Given the description of an element on the screen output the (x, y) to click on. 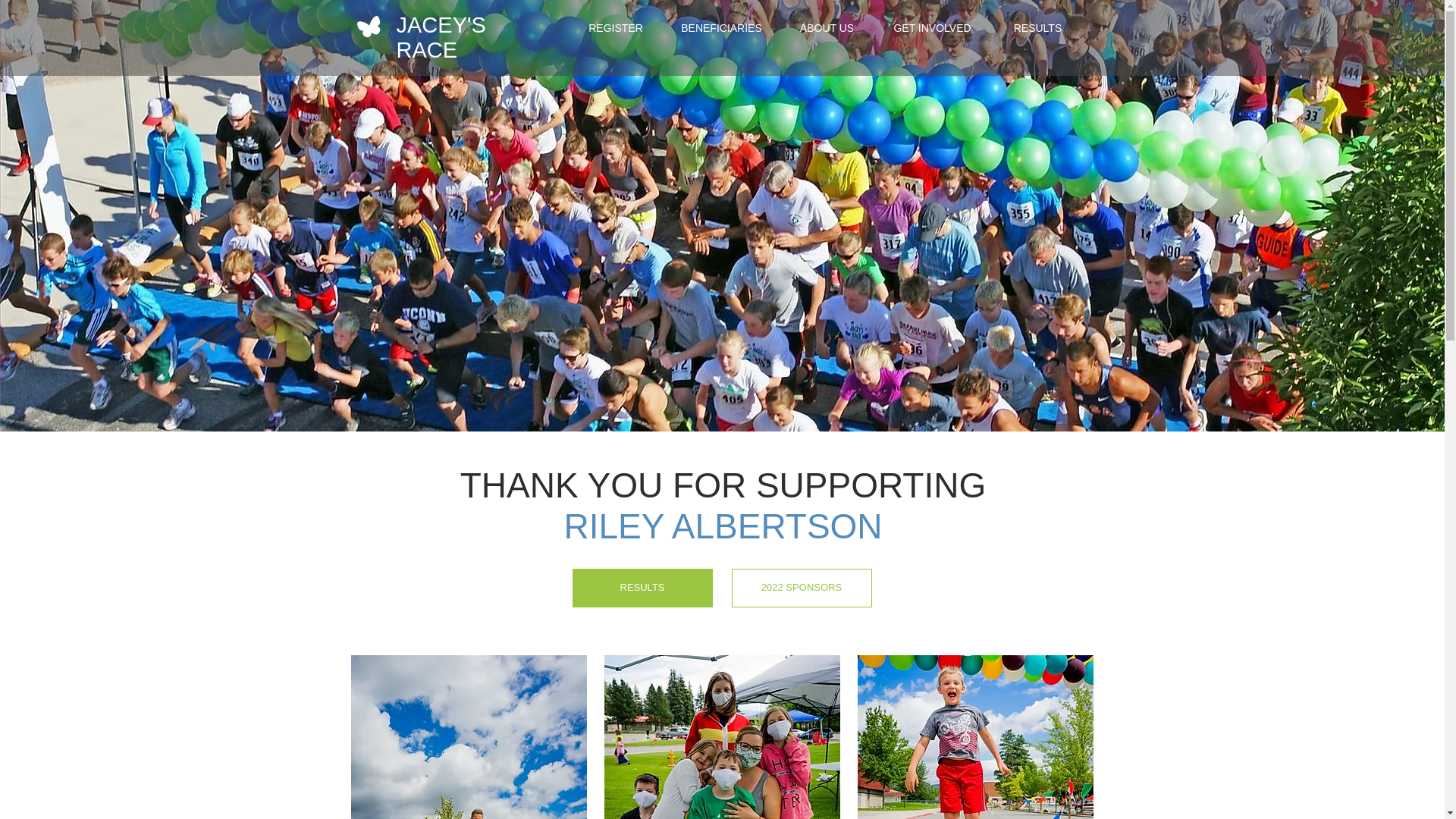
ABOUT US (826, 27)
BENEFICIARIES (721, 27)
2022 SPONSORS (800, 587)
RESULTS (641, 587)
JACEY'S RACE (440, 37)
RESULTS (1036, 27)
REGISTER (615, 27)
GET INVOLVED (932, 27)
